Given the description of an element on the screen output the (x, y) to click on. 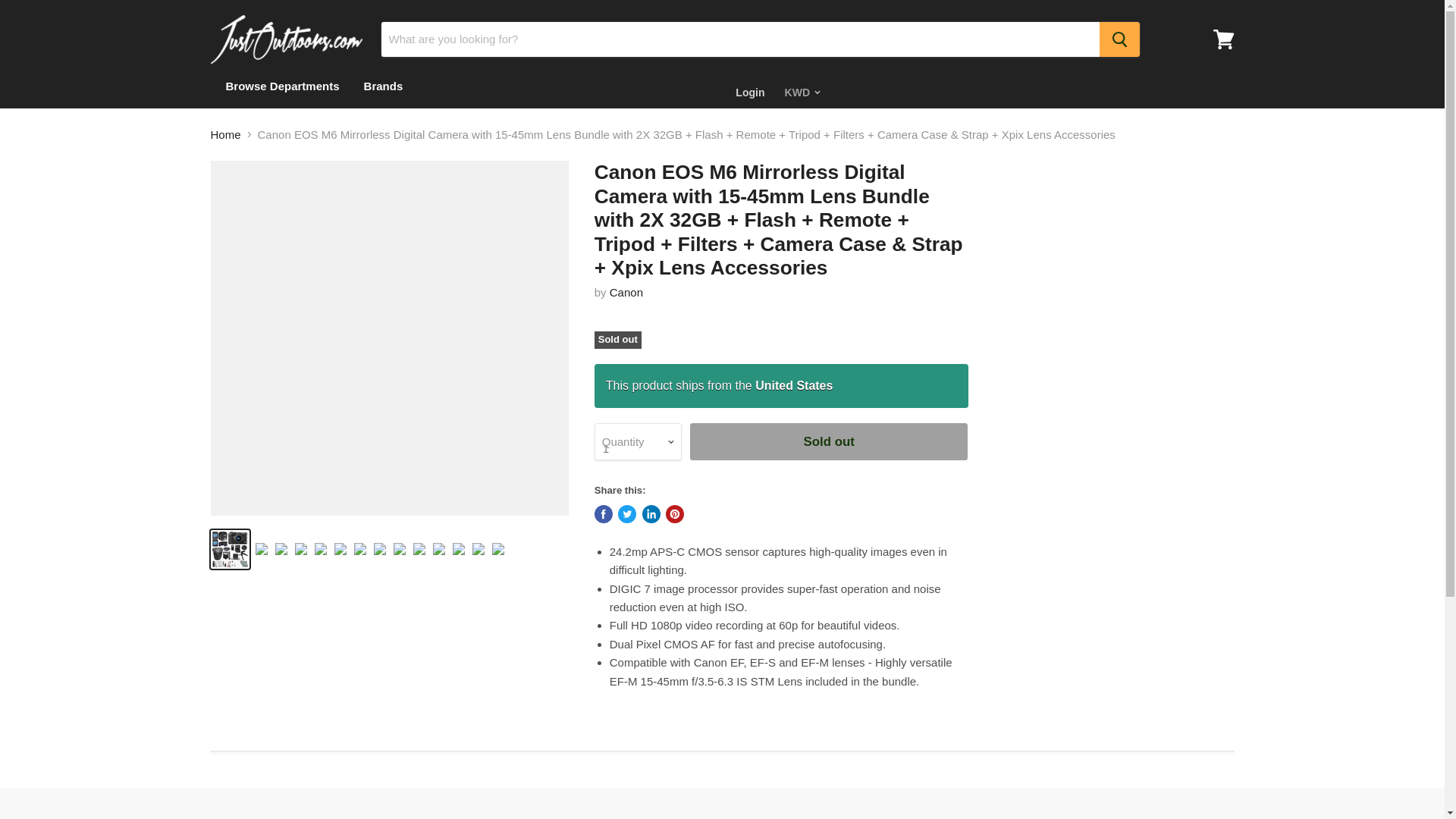
Canon (626, 291)
Browse Departments (279, 86)
Sold out (829, 441)
Brands (380, 86)
Login (749, 92)
Canon (626, 291)
View cart (1223, 39)
Pin on Pinterest (674, 514)
Home (226, 133)
Share on Facebook (603, 514)
Tweet on Twitter (626, 514)
Share on LinkedIn (651, 514)
